Given the description of an element on the screen output the (x, y) to click on. 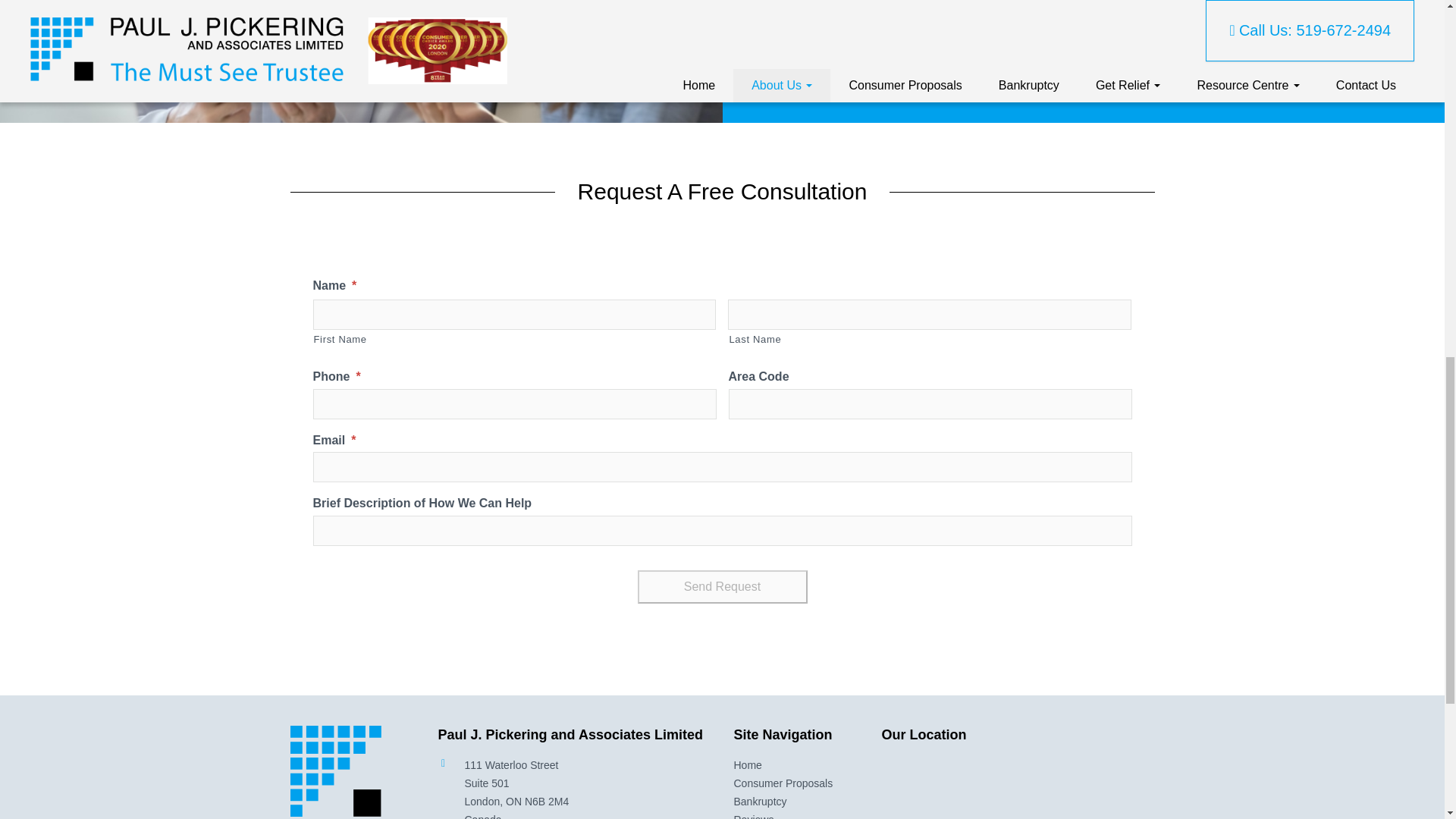
Send Request (721, 586)
